Given the description of an element on the screen output the (x, y) to click on. 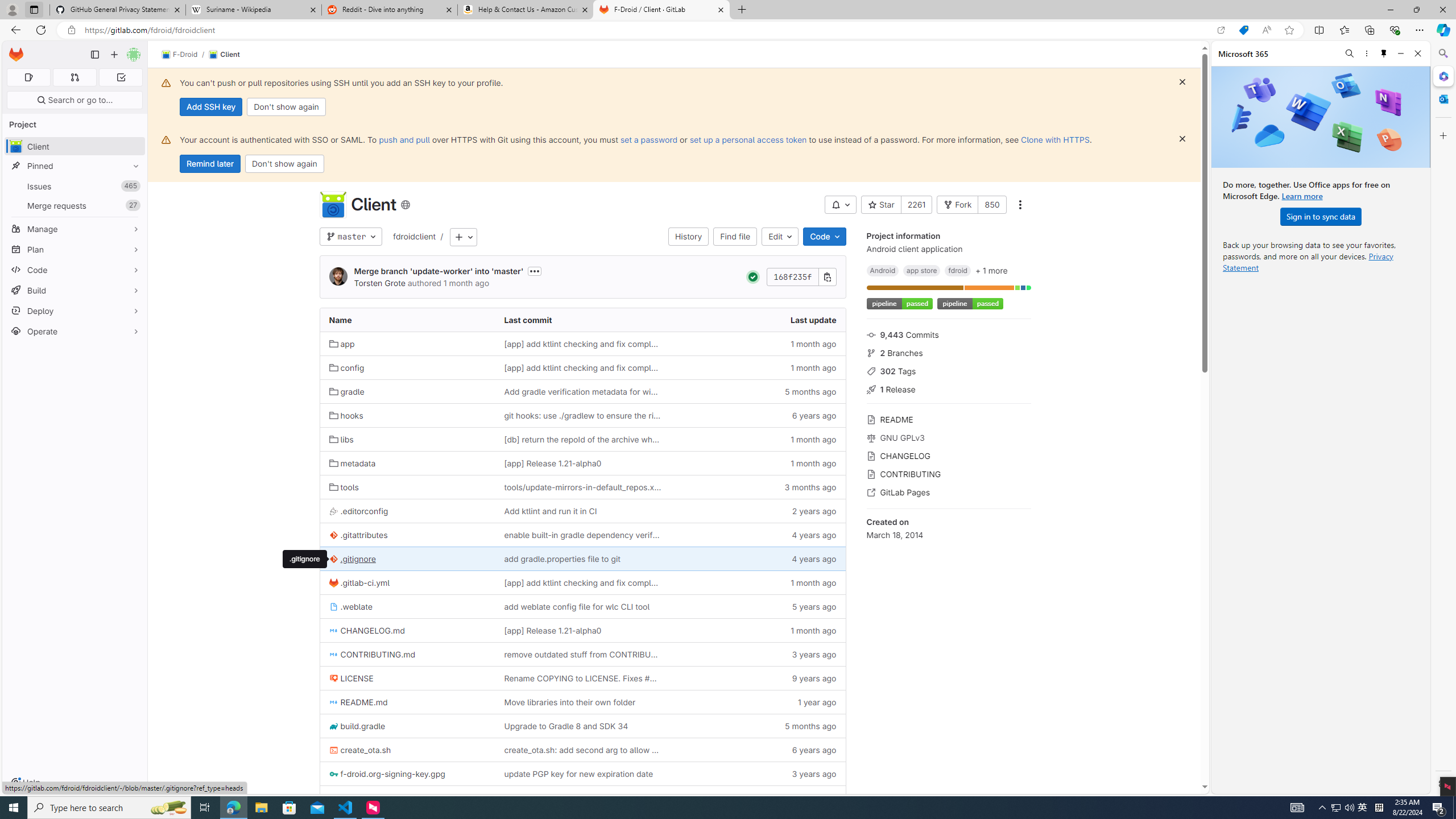
Unpin Merge requests (132, 205)
Manage (74, 228)
README.md (358, 702)
Plan (74, 248)
build.gradle (357, 725)
History (688, 236)
Torsten Grote's avatar (338, 275)
set up a personal access token (747, 139)
Project badge (969, 303)
CHANGELOG.md (407, 630)
Class: s16 gl-alert-icon gl-alert-icon-no-title (165, 139)
Move libraries into their own folder (583, 701)
